Given the description of an element on the screen output the (x, y) to click on. 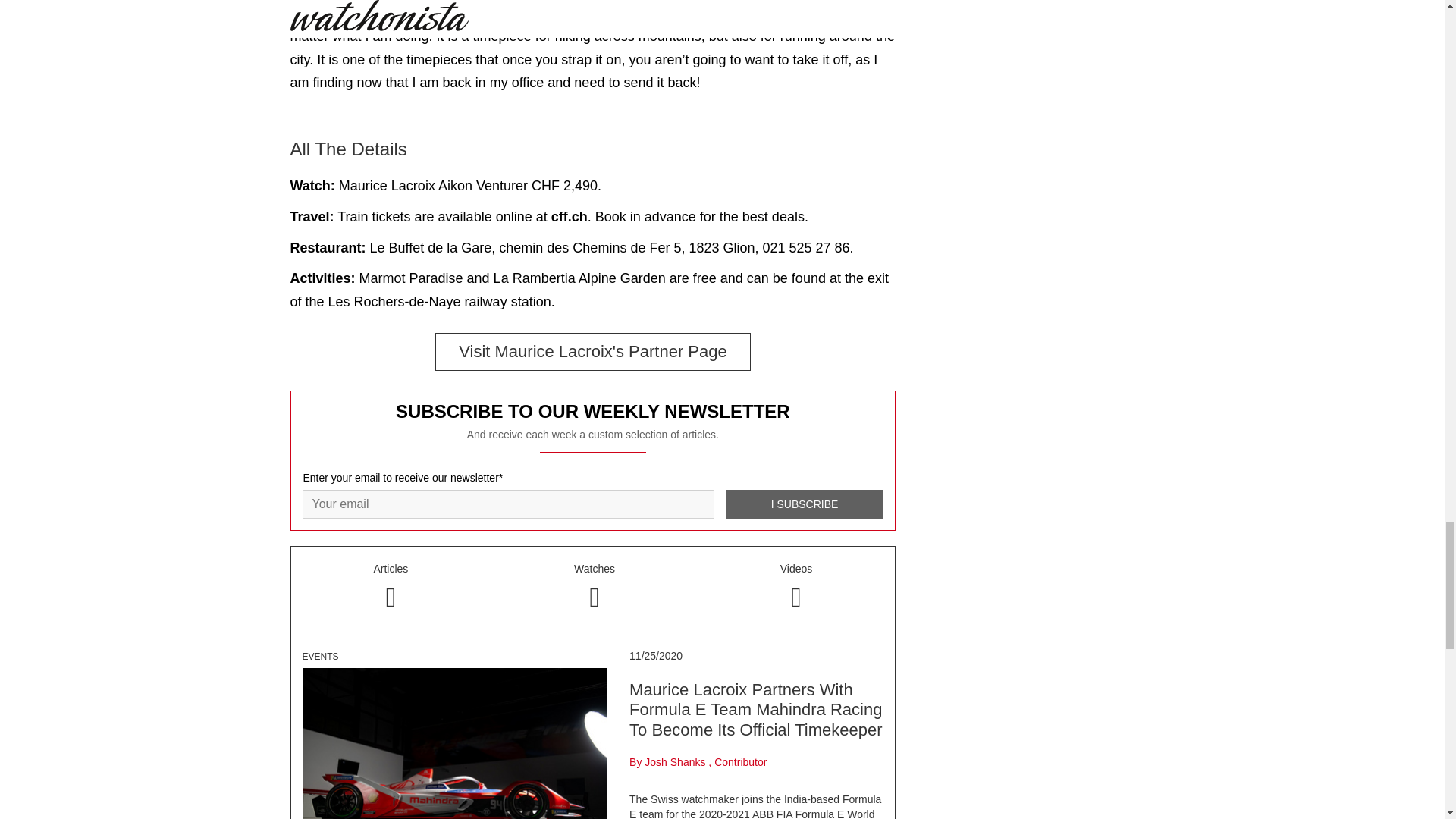
Articles (391, 586)
I subscribe (804, 503)
I subscribe (804, 503)
Watches (594, 586)
Videos (796, 586)
EVENTS (319, 656)
Videos (796, 586)
Visit Maurice Lacroix'S Partner Page (593, 351)
cff.ch (569, 220)
Watches (594, 586)
Articles (391, 586)
